Given the description of an element on the screen output the (x, y) to click on. 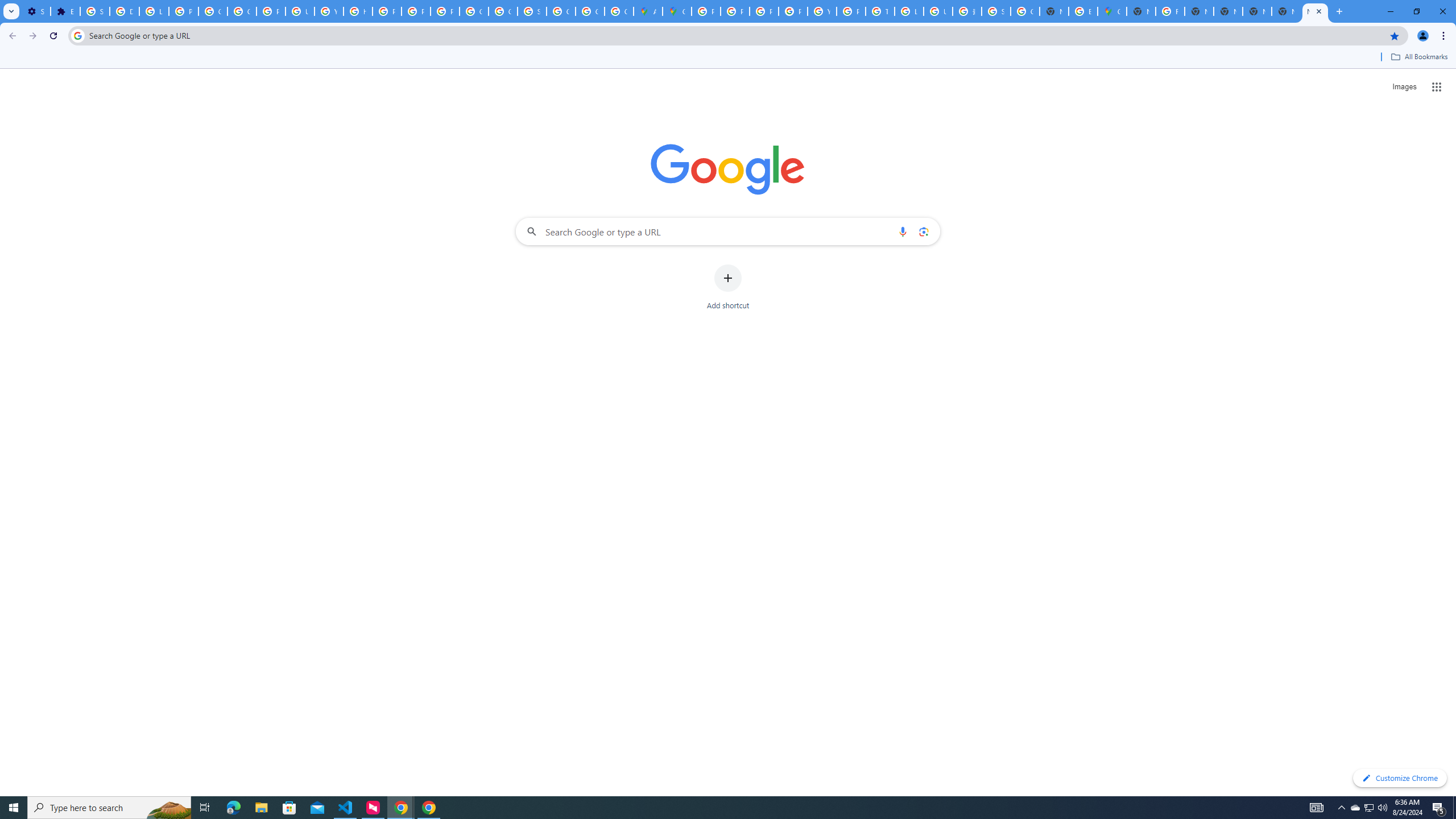
Google Account Help (242, 11)
Sign in - Google Accounts (996, 11)
Tips & tricks for Chrome - Google Chrome Help (879, 11)
Search by voice (902, 230)
Search for Images  (1403, 87)
Google apps (1436, 86)
Sign in - Google Accounts (95, 11)
Settings - On startup (35, 11)
